Given the description of an element on the screen output the (x, y) to click on. 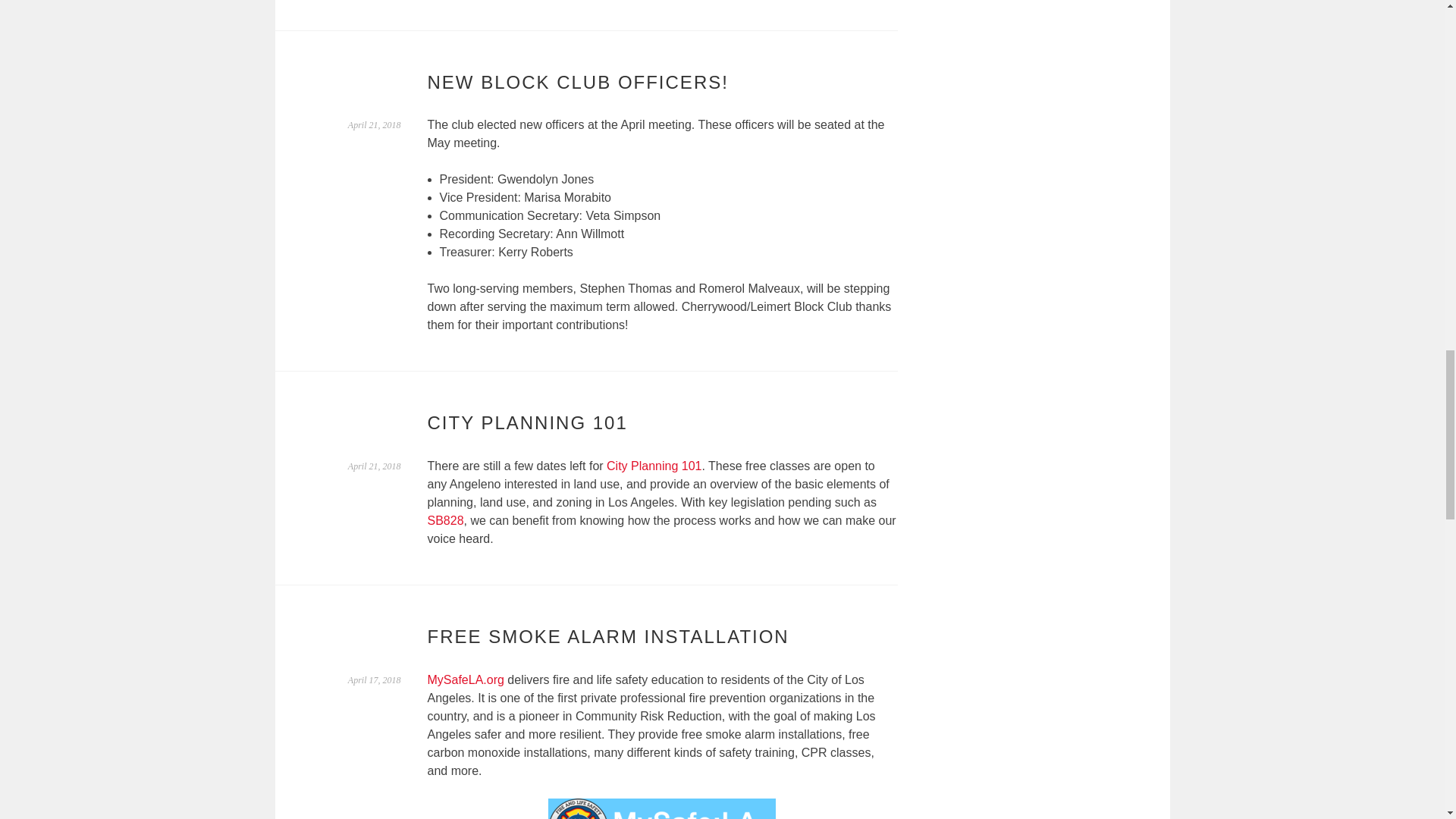
SB828 (446, 520)
Permalink to Free smoke alarm installation (374, 679)
MySafeLA.org (465, 679)
City Planning 101 (654, 465)
FREE SMOKE ALARM INSTALLATION (608, 636)
CITY PLANNING 101 (527, 422)
Permalink to New block club officers! (374, 124)
NEW BLOCK CLUB OFFICERS! (578, 82)
April 21, 2018 (374, 466)
April 17, 2018 (374, 679)
Permalink to City Planning 101 (374, 466)
April 21, 2018 (374, 124)
